Given the description of an element on the screen output the (x, y) to click on. 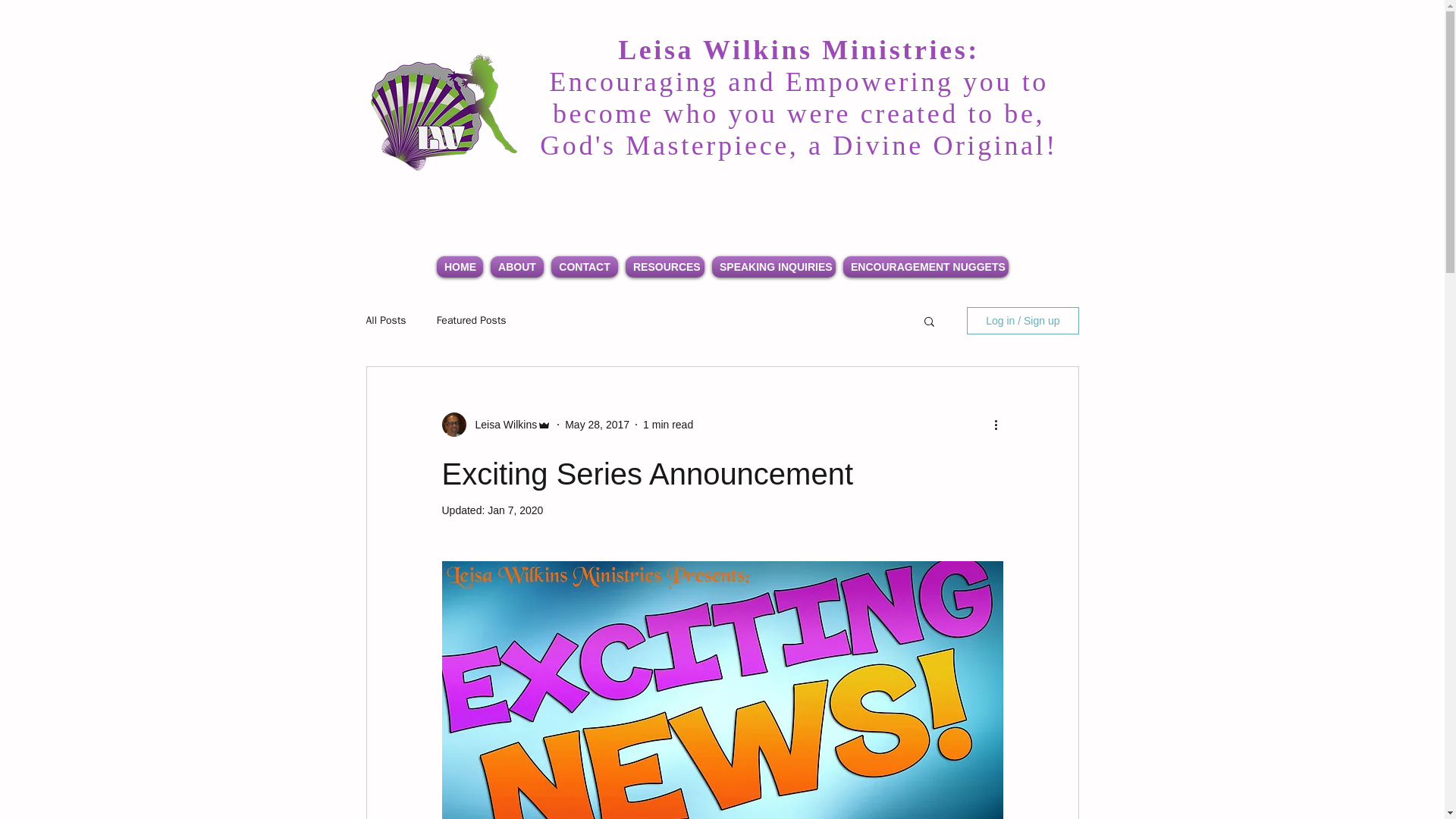
ENCOURAGEMENT NUGGETS (925, 266)
ABOUT (516, 266)
May 28, 2017 (596, 424)
CONTACT (584, 266)
Featured Posts (471, 320)
All Posts (385, 320)
HOME (459, 266)
Leisa Wilkins Ministries (444, 115)
SPEAKING INQUIRIES (773, 266)
Leisa Wilkins (501, 424)
RESOURCES (664, 266)
Jan 7, 2020 (515, 510)
1 min read (668, 424)
